Given the description of an element on the screen output the (x, y) to click on. 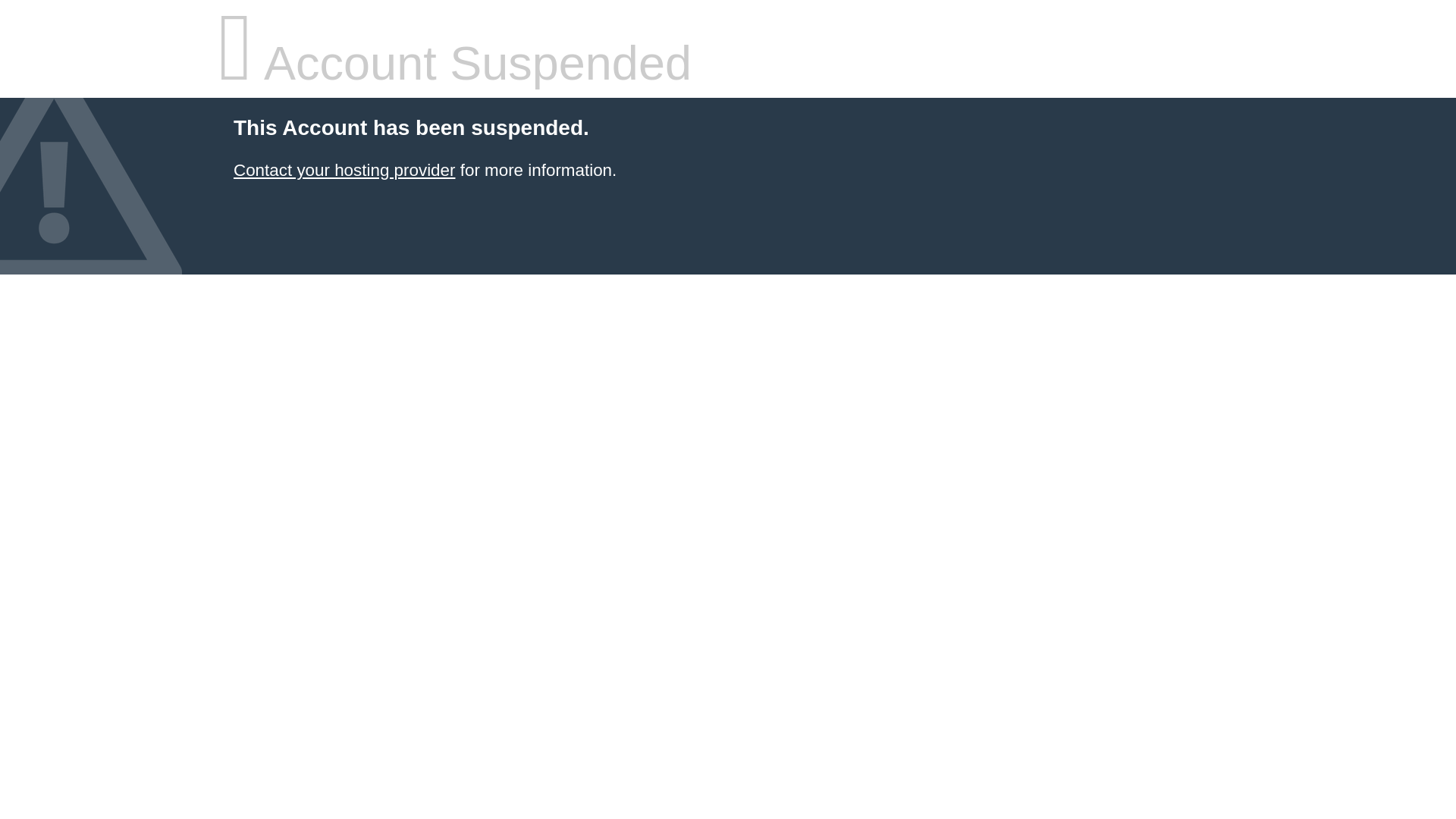
Contact your hosting provider (343, 169)
Onfrey Company (343, 169)
